Given the description of an element on the screen output the (x, y) to click on. 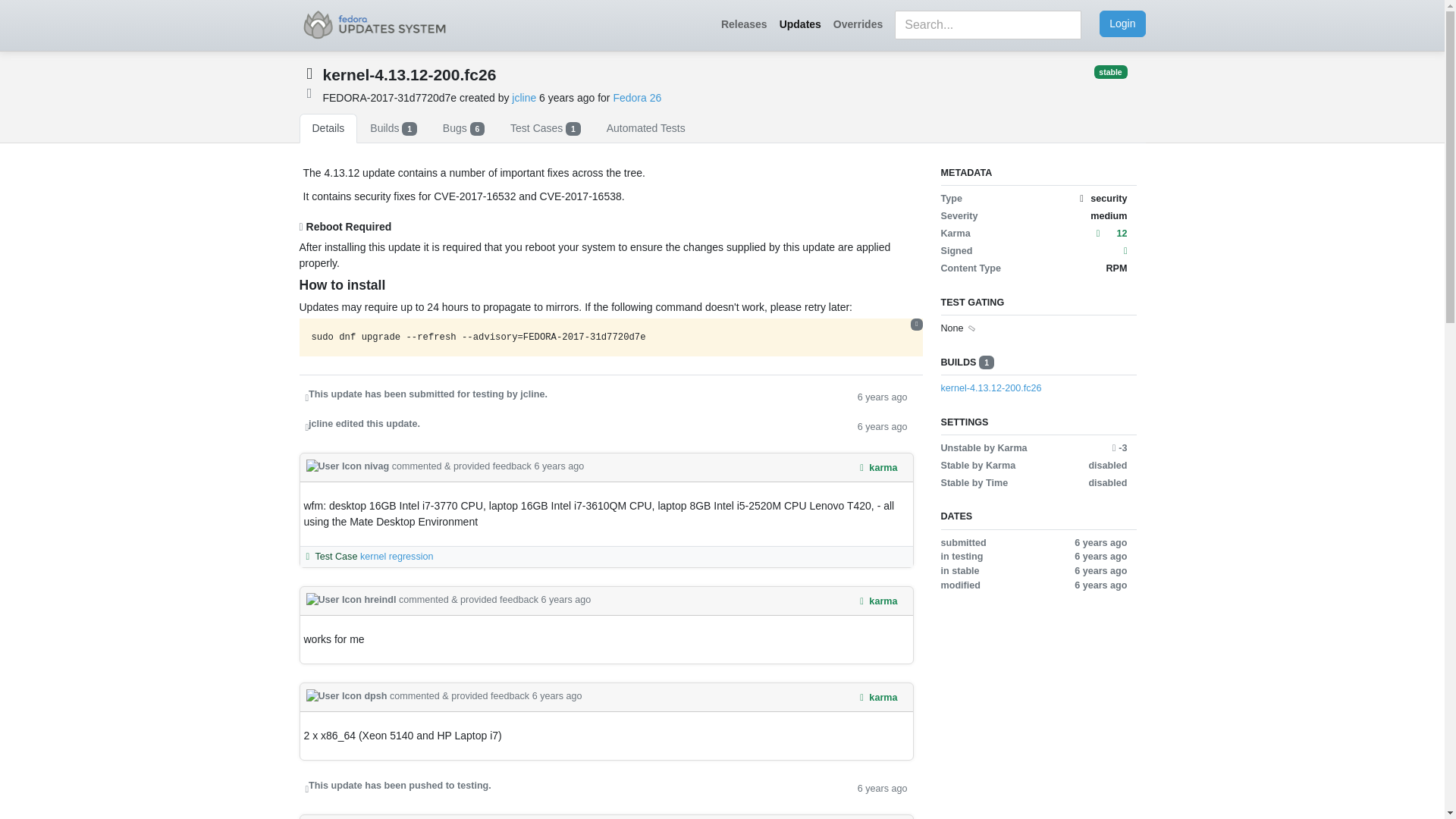
Login (1121, 23)
Details (327, 128)
6 years ago (882, 425)
Updates (800, 24)
jcline (523, 97)
6 years ago (557, 696)
2017-11-08 22:10:20.671069 UTC (567, 97)
Copy to clipboard (916, 324)
hreindl (351, 599)
6 years ago (558, 466)
